Given the description of an element on the screen output the (x, y) to click on. 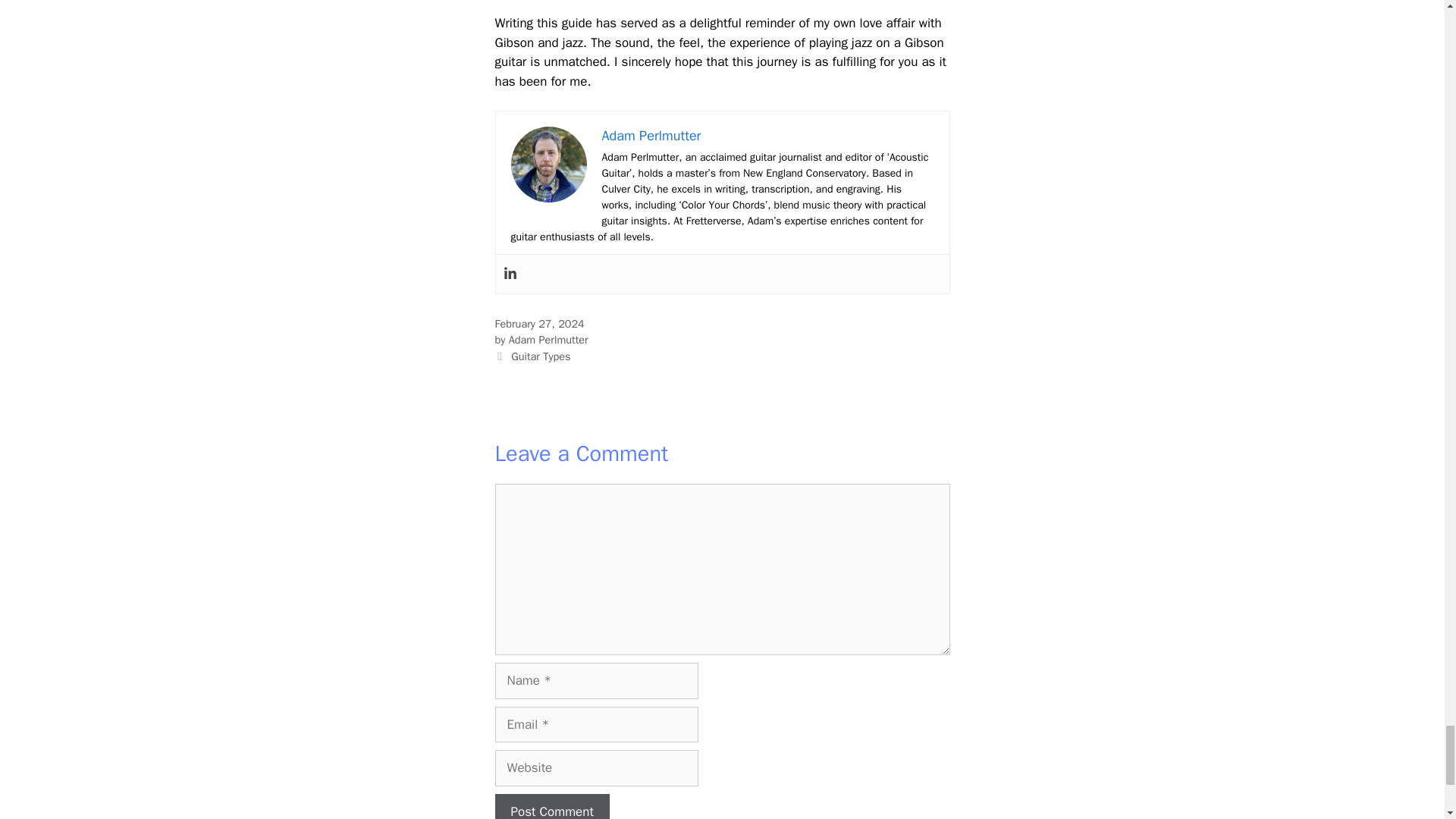
Post Comment (551, 806)
View all posts by Adam Perlmutter (548, 339)
5:09 pm (539, 323)
